Given the description of an element on the screen output the (x, y) to click on. 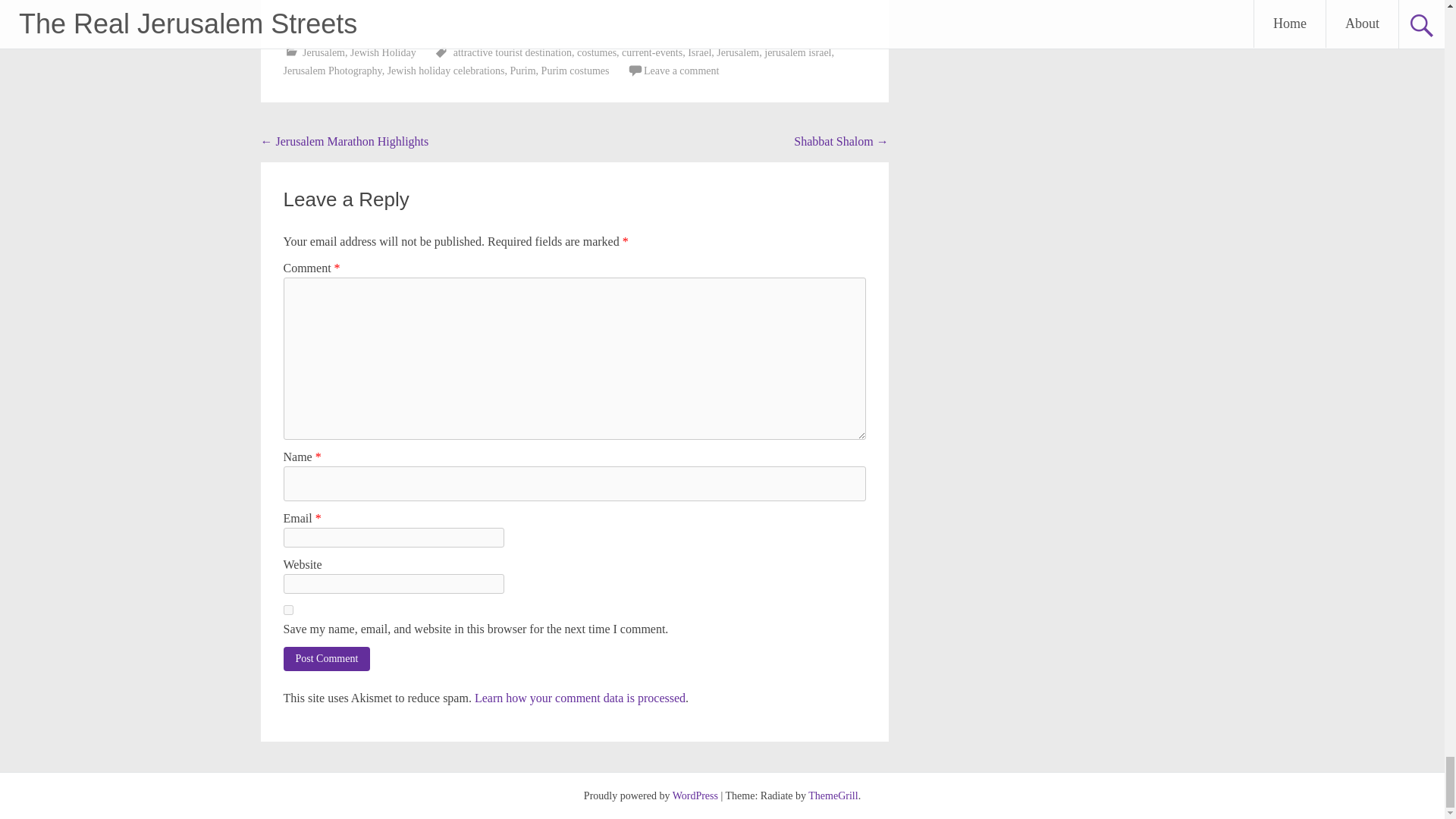
Jewish Holiday (383, 52)
costumes (595, 52)
yes (288, 610)
Jerusalem Photography (332, 70)
Leave a comment (681, 70)
attractive tourist destination (512, 52)
Jerusalem (737, 52)
Jerusalem (323, 52)
Jewish holiday celebrations (446, 70)
Purim (522, 70)
jerusalem israel (797, 52)
Learn how your comment data is processed (579, 697)
Purim costumes (575, 70)
Israel (699, 52)
Post Comment (327, 658)
